Given the description of an element on the screen output the (x, y) to click on. 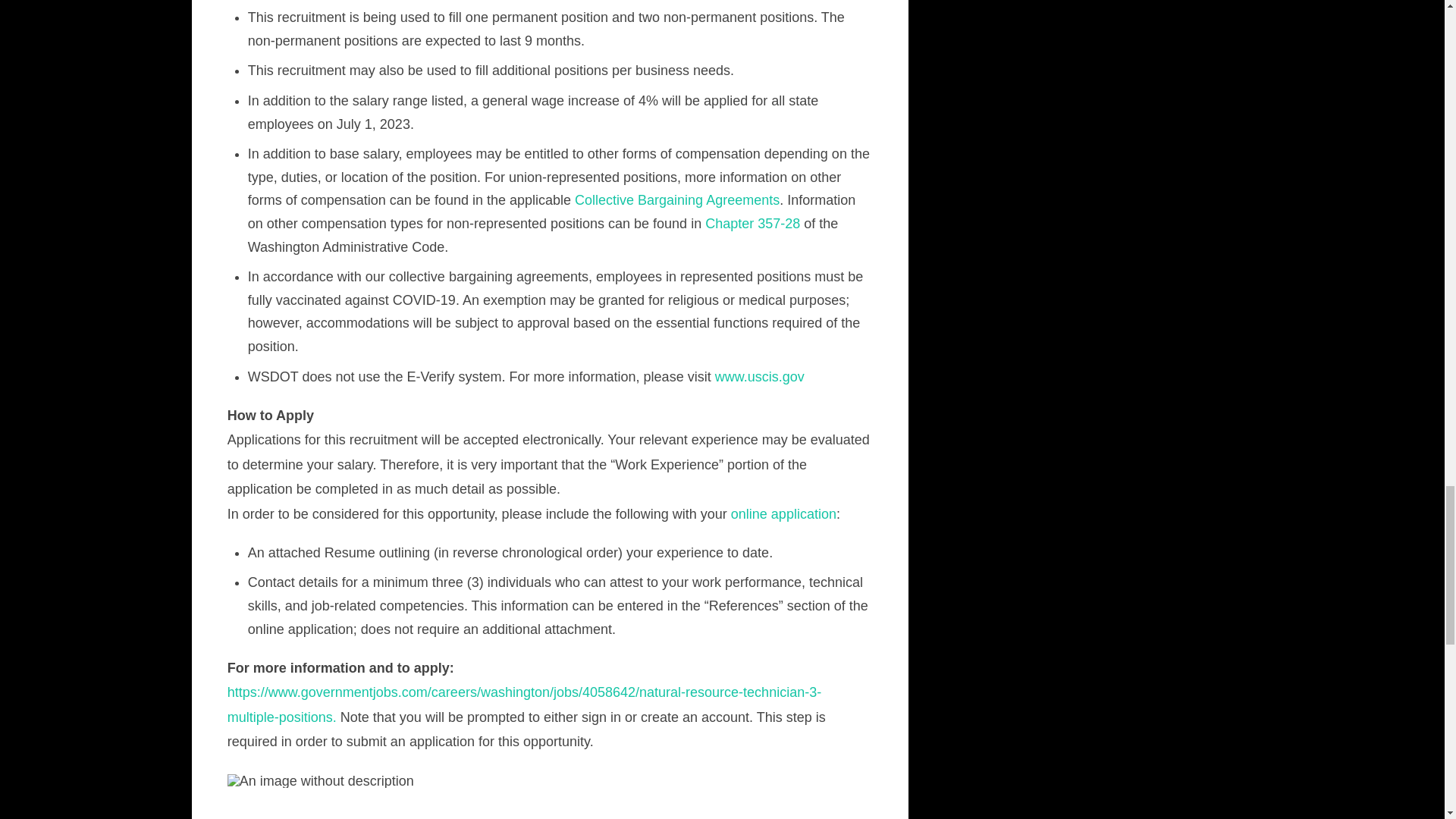
online application (782, 513)
Chapter 357-28 (751, 223)
Collective Bargaining Agreements (676, 200)
www.uscis.gov (759, 376)
